Given the description of an element on the screen output the (x, y) to click on. 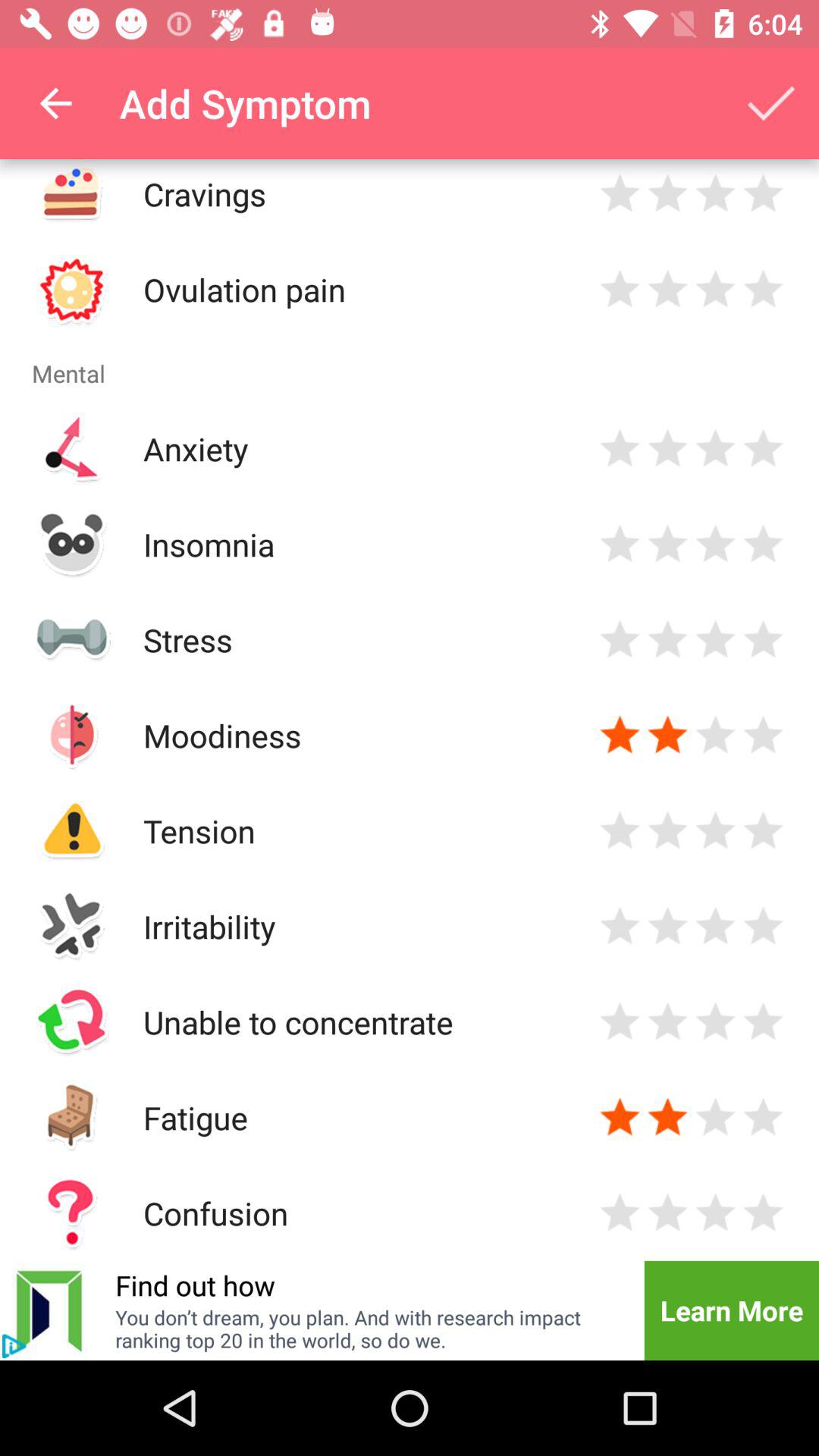
a star (619, 289)
